Given the description of an element on the screen output the (x, y) to click on. 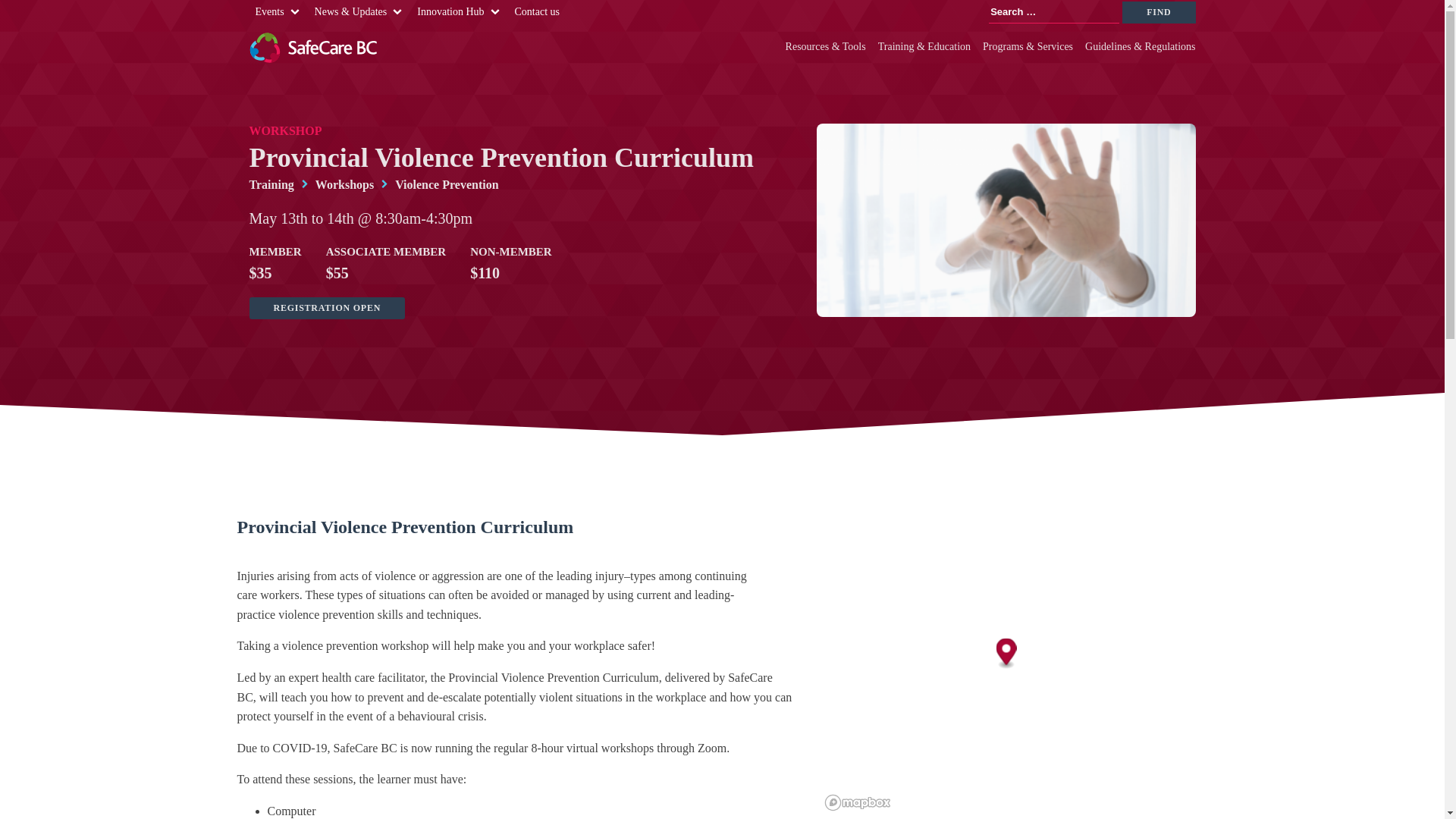
Innovation Hub (449, 11)
Events (268, 11)
Search for: (1053, 12)
Find (1158, 12)
Find (1158, 12)
Find (1158, 12)
Contact us (537, 11)
